Given the description of an element on the screen output the (x, y) to click on. 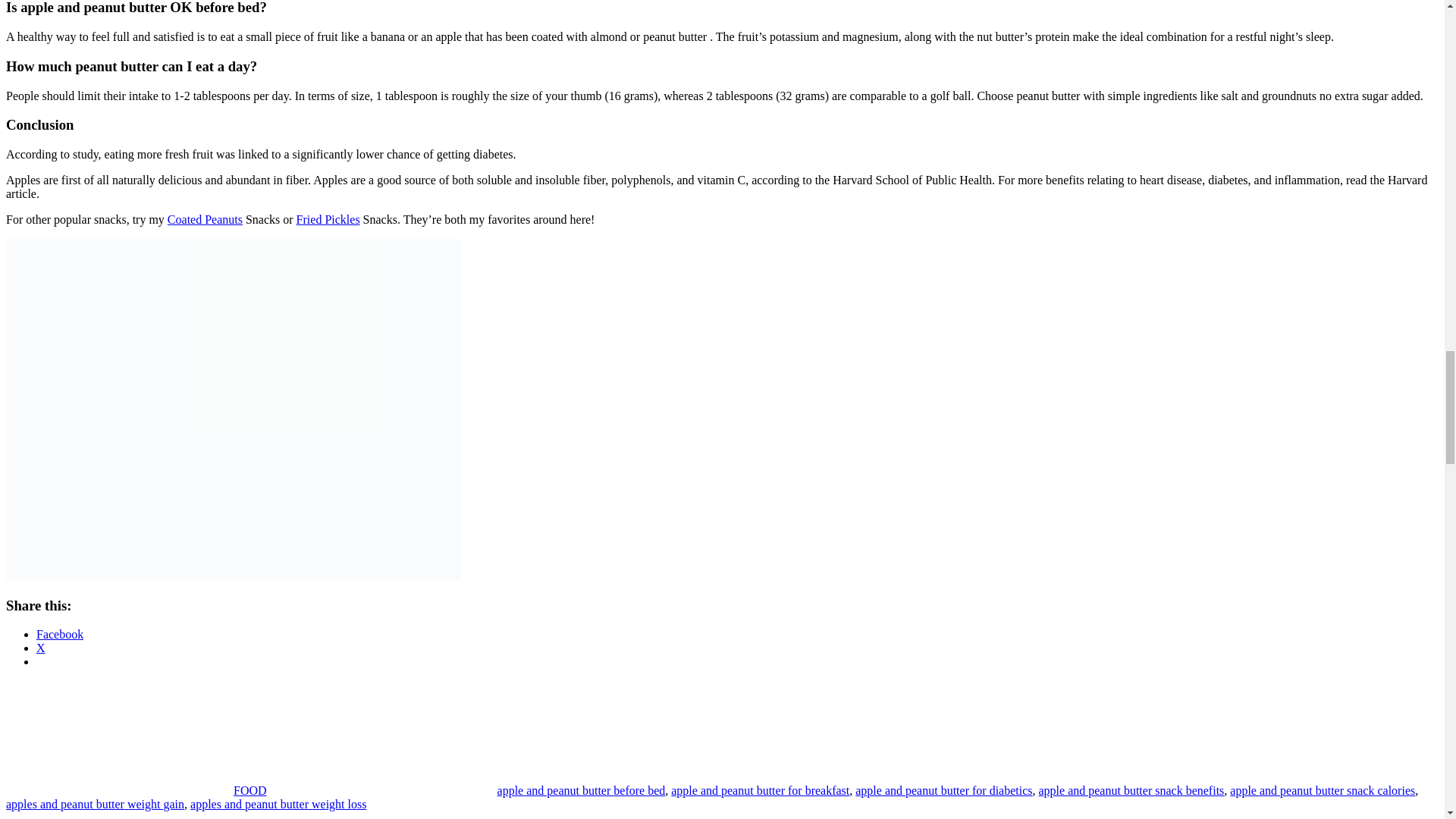
Fried Pickles (328, 219)
apple and peanut butter for diabetics (944, 789)
Click to share on Facebook (59, 634)
Facebook (59, 634)
apple and peanut butter snack benefits (1131, 789)
FOOD (249, 789)
apples and peanut butter weight loss (278, 803)
apple and peanut butter snack calories (1322, 789)
apples and peanut butter weight gain (94, 803)
apple and peanut butter for breakfast (759, 789)
apple and peanut butter before bed (581, 789)
Coated Peanuts (205, 219)
